Given the description of an element on the screen output the (x, y) to click on. 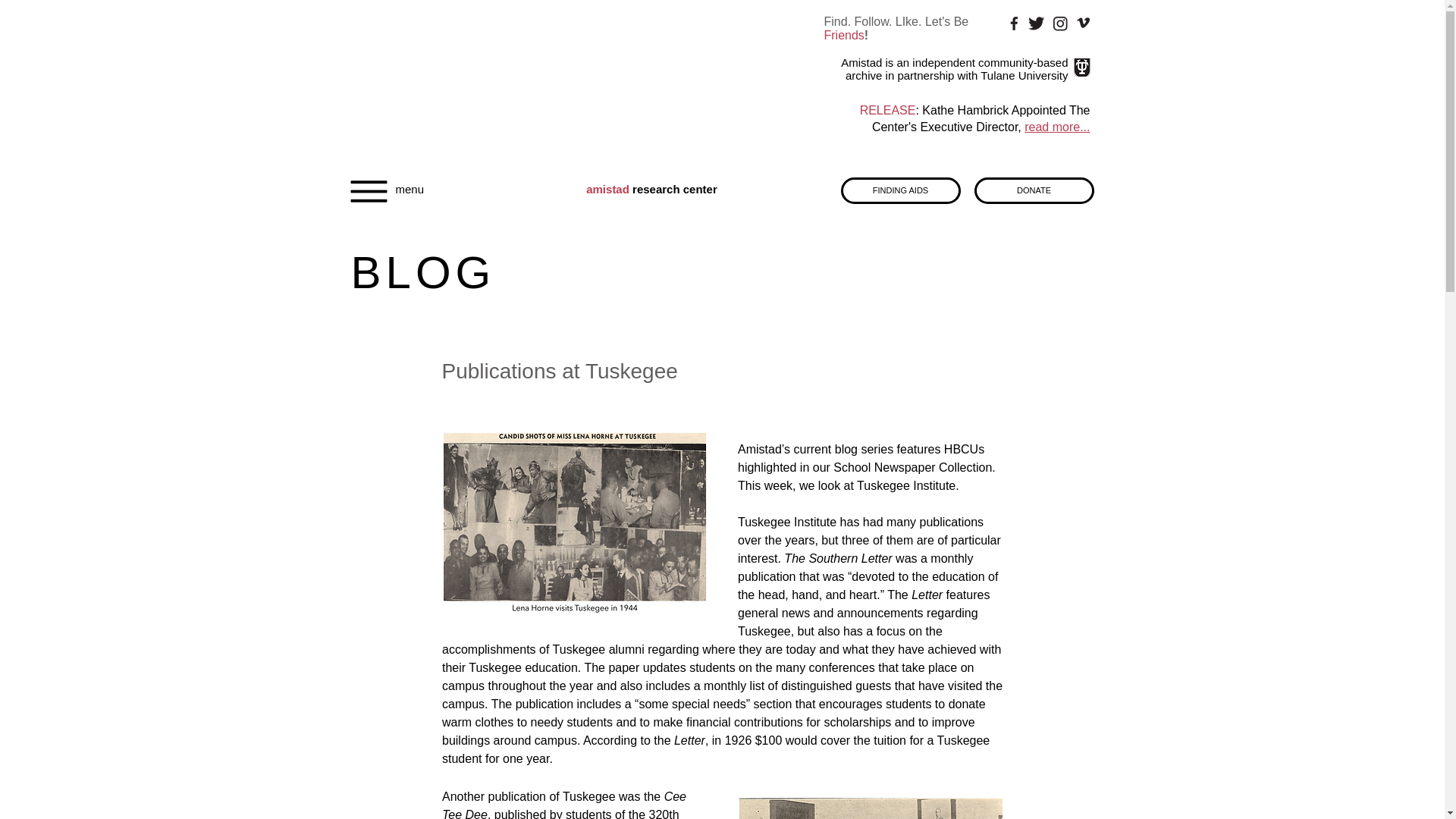
amistad research center (651, 188)
read more... (1057, 126)
menu (410, 188)
DONATE (1033, 190)
FINDING AIDS (899, 190)
RELEASE (887, 110)
